Given the description of an element on the screen output the (x, y) to click on. 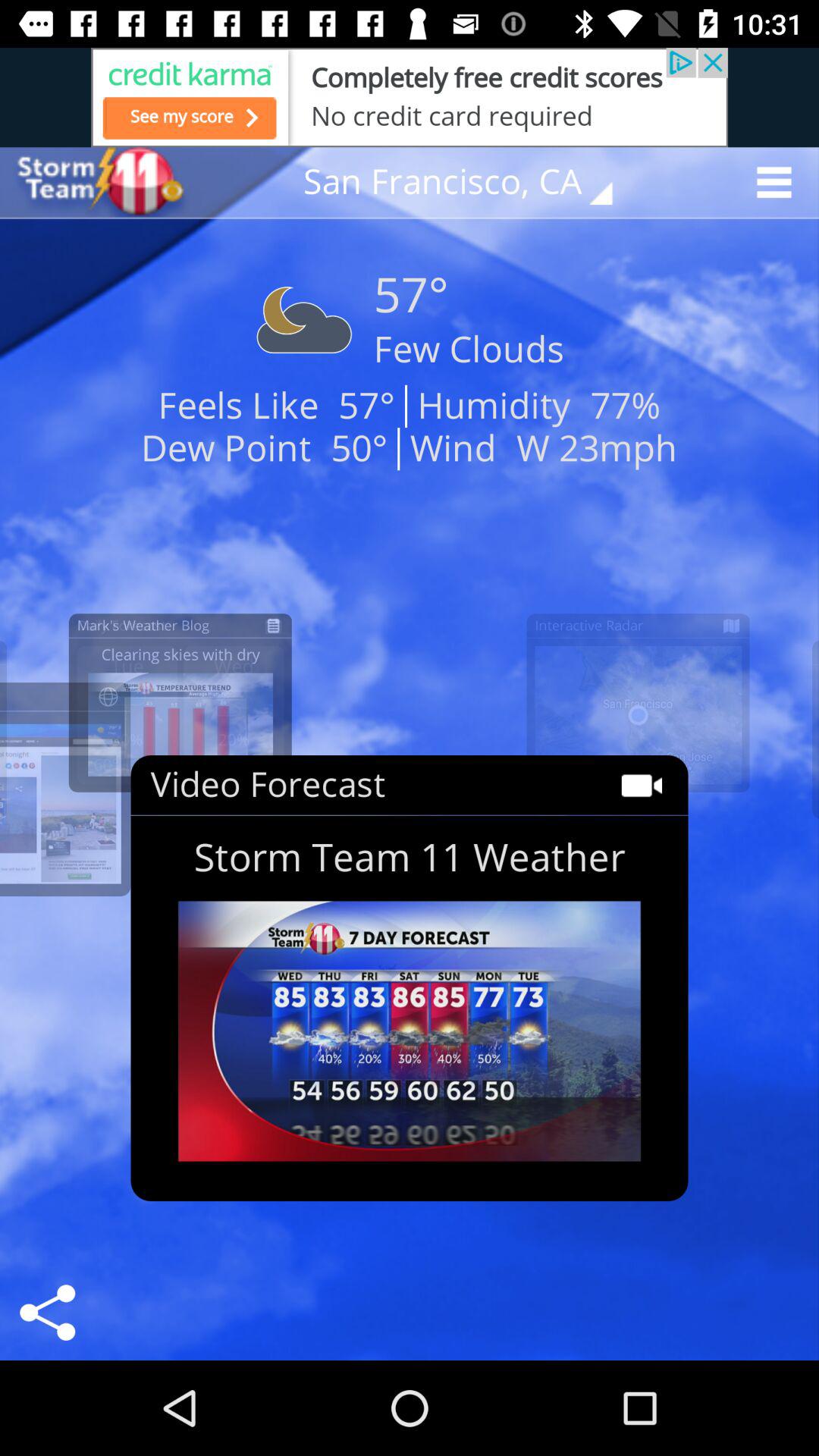
click on the share icon (47, 1312)
